Given the description of an element on the screen output the (x, y) to click on. 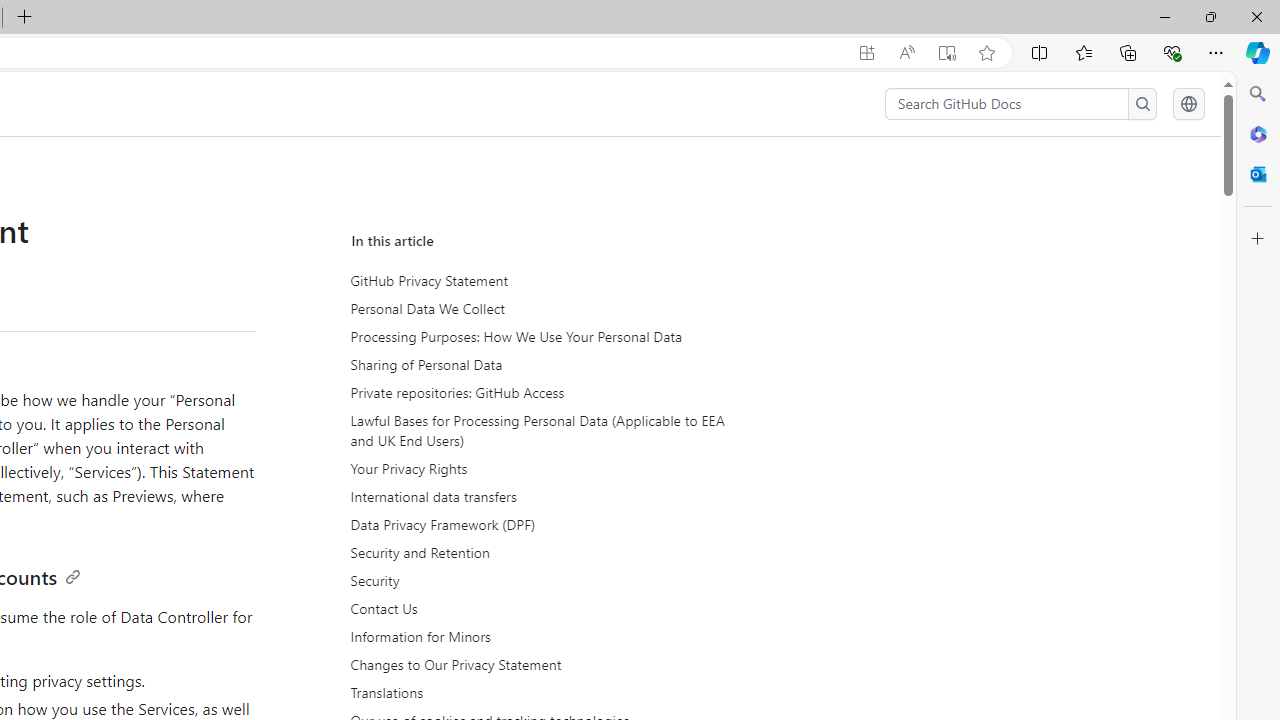
Data Privacy Framework (DPF) (535, 525)
International data transfers (538, 497)
Security and Retention (538, 553)
Information for Minors (538, 636)
Private repositories: GitHub Access (538, 392)
Private repositories: GitHub Access (535, 392)
Processing Purposes: How We Use Your Personal Data (535, 337)
Sharing of Personal Data (538, 364)
Changes to Our Privacy Statement (538, 664)
